Given the description of an element on the screen output the (x, y) to click on. 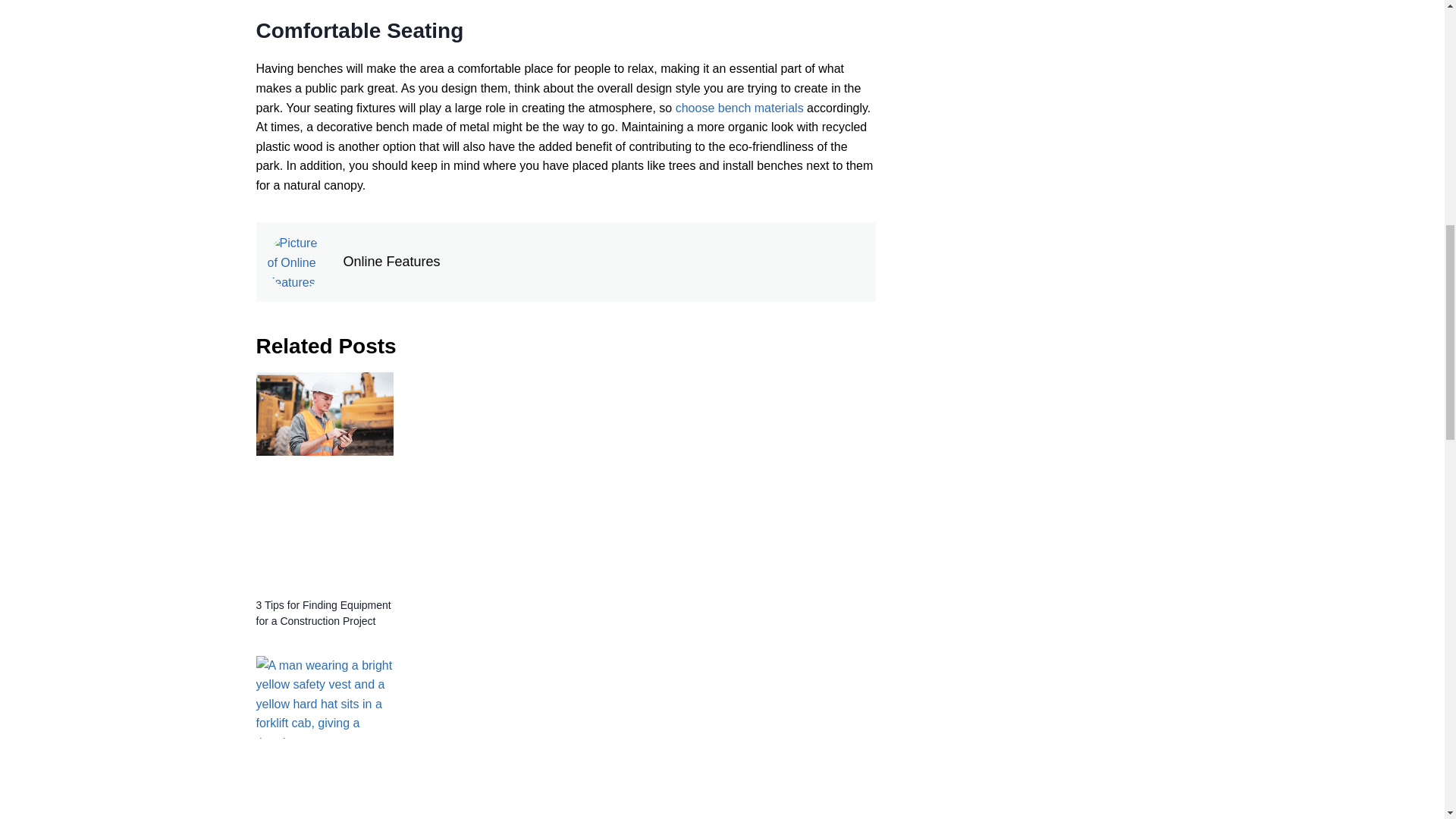
Online Features (603, 261)
choose bench materials (739, 107)
